Given the description of an element on the screen output the (x, y) to click on. 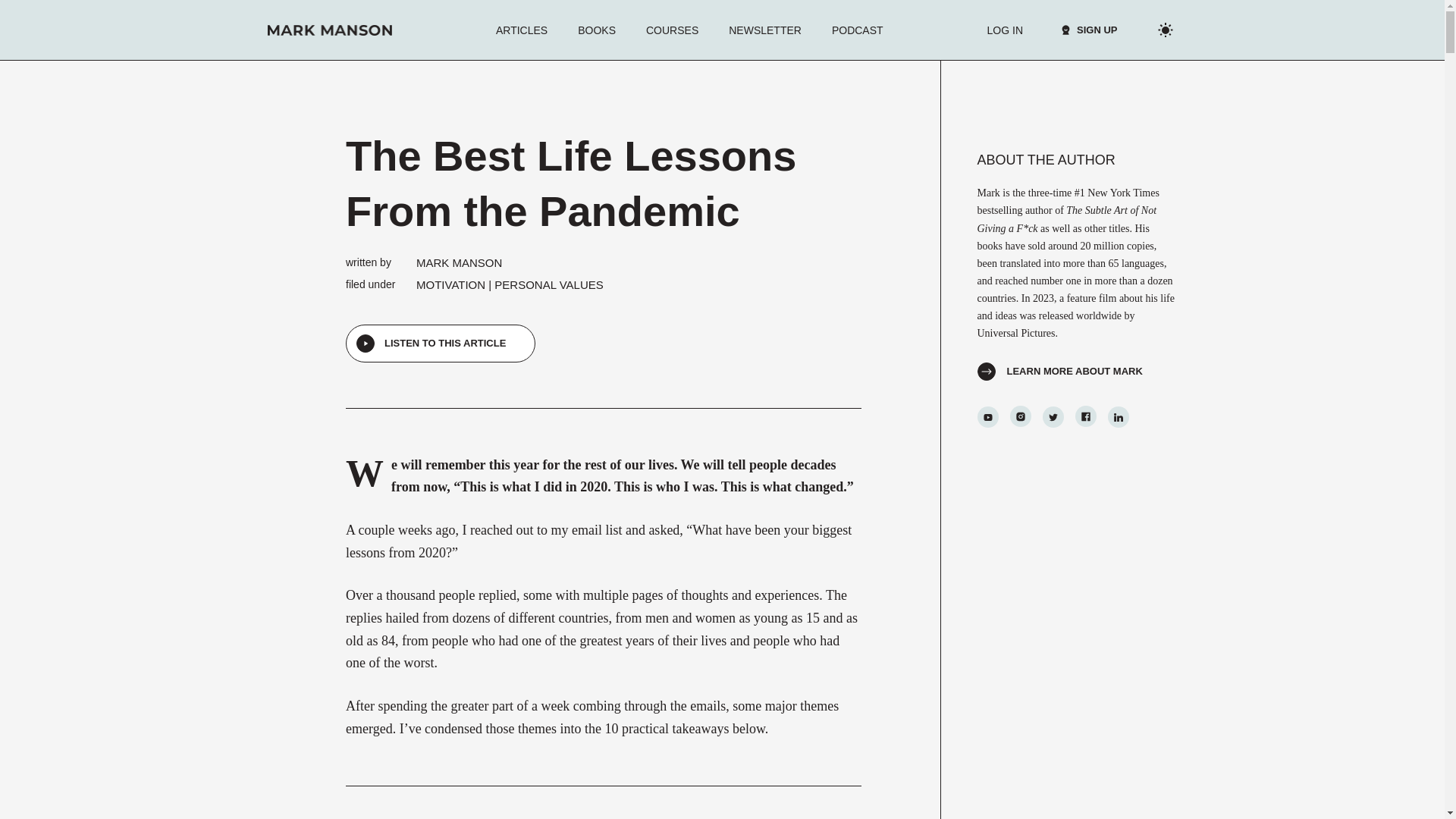
SIGN UP (1081, 30)
SIGN UP (1089, 30)
PERSONAL VALUES (548, 284)
LOG IN (1005, 30)
ARTICLES (521, 30)
PODCAST (857, 30)
MOTIVATION (450, 284)
NEWSLETTER (764, 30)
BOOKS (596, 30)
Learn more about Mark (1058, 369)
